Given the description of an element on the screen output the (x, y) to click on. 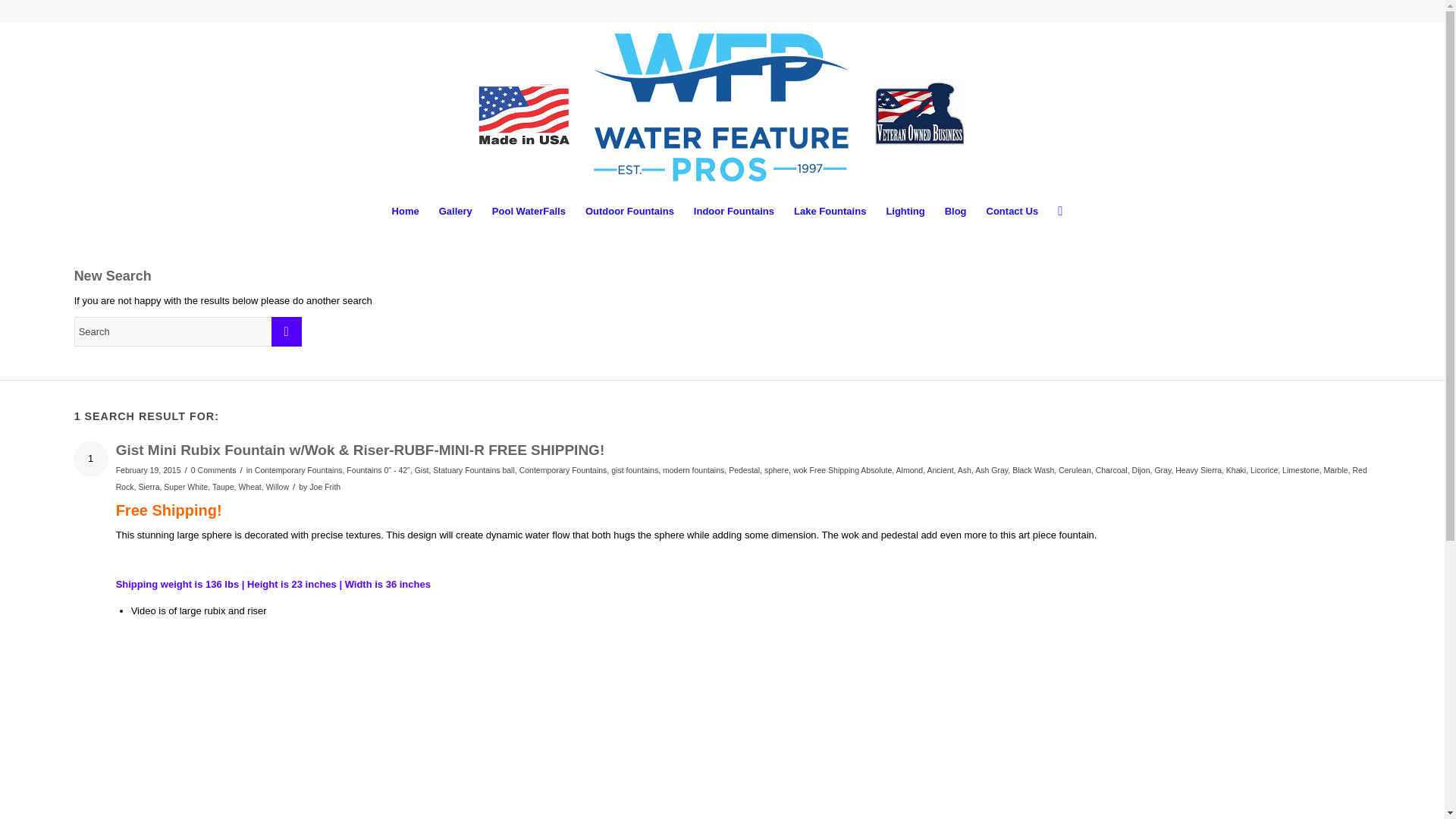
Indoor Fountains (734, 211)
Lighting (905, 211)
WFP LOGO (722, 107)
Contact Us (1012, 211)
Outdoor Fountains (629, 211)
Pool WaterFalls (528, 211)
Gallery (455, 211)
Lake Fountains (830, 211)
Posts by Joe Frith (324, 486)
Home (405, 211)
